Given the description of an element on the screen output the (x, y) to click on. 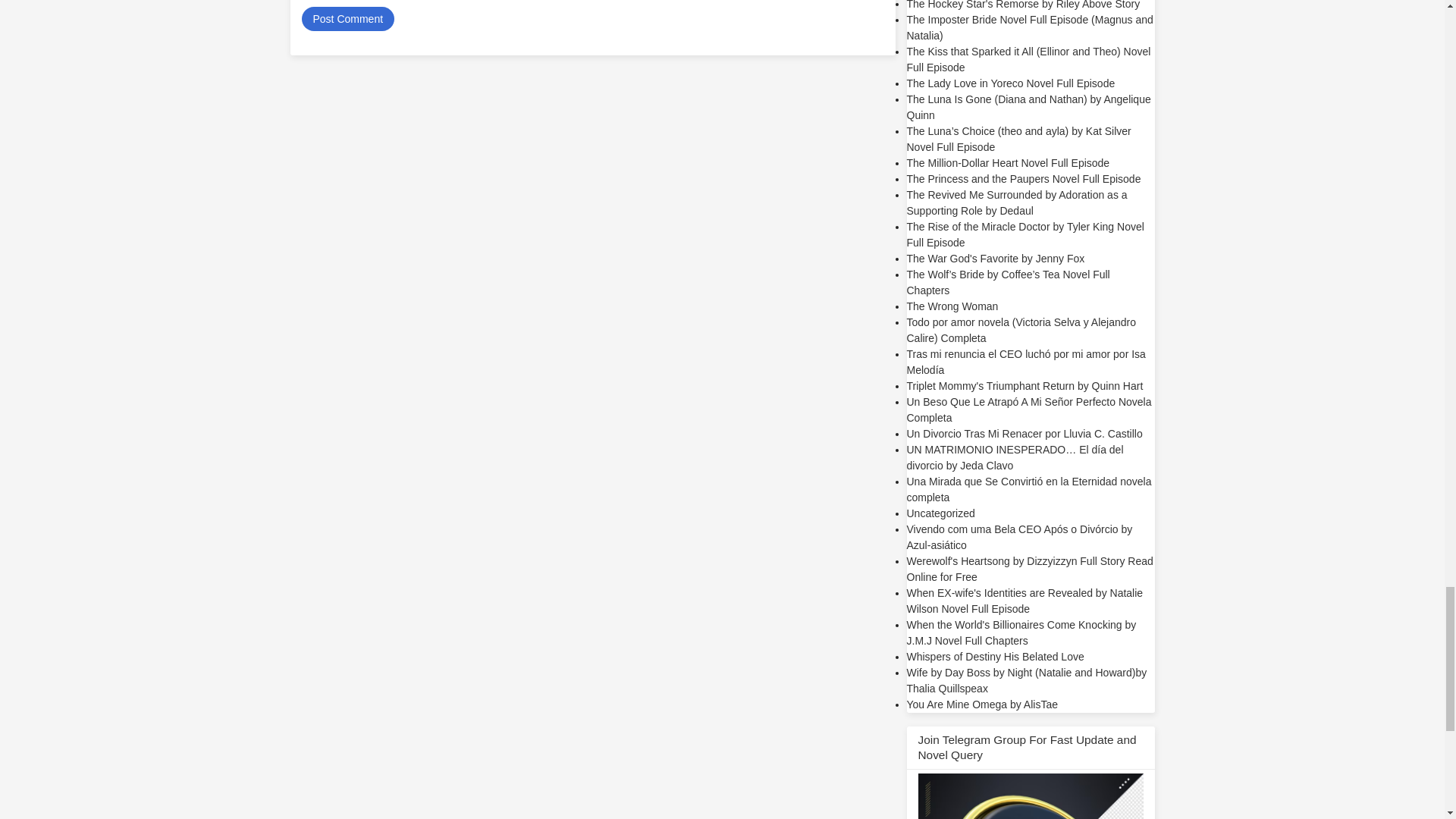
Post Comment (347, 18)
Post Comment (347, 18)
